Given the description of an element on the screen output the (x, y) to click on. 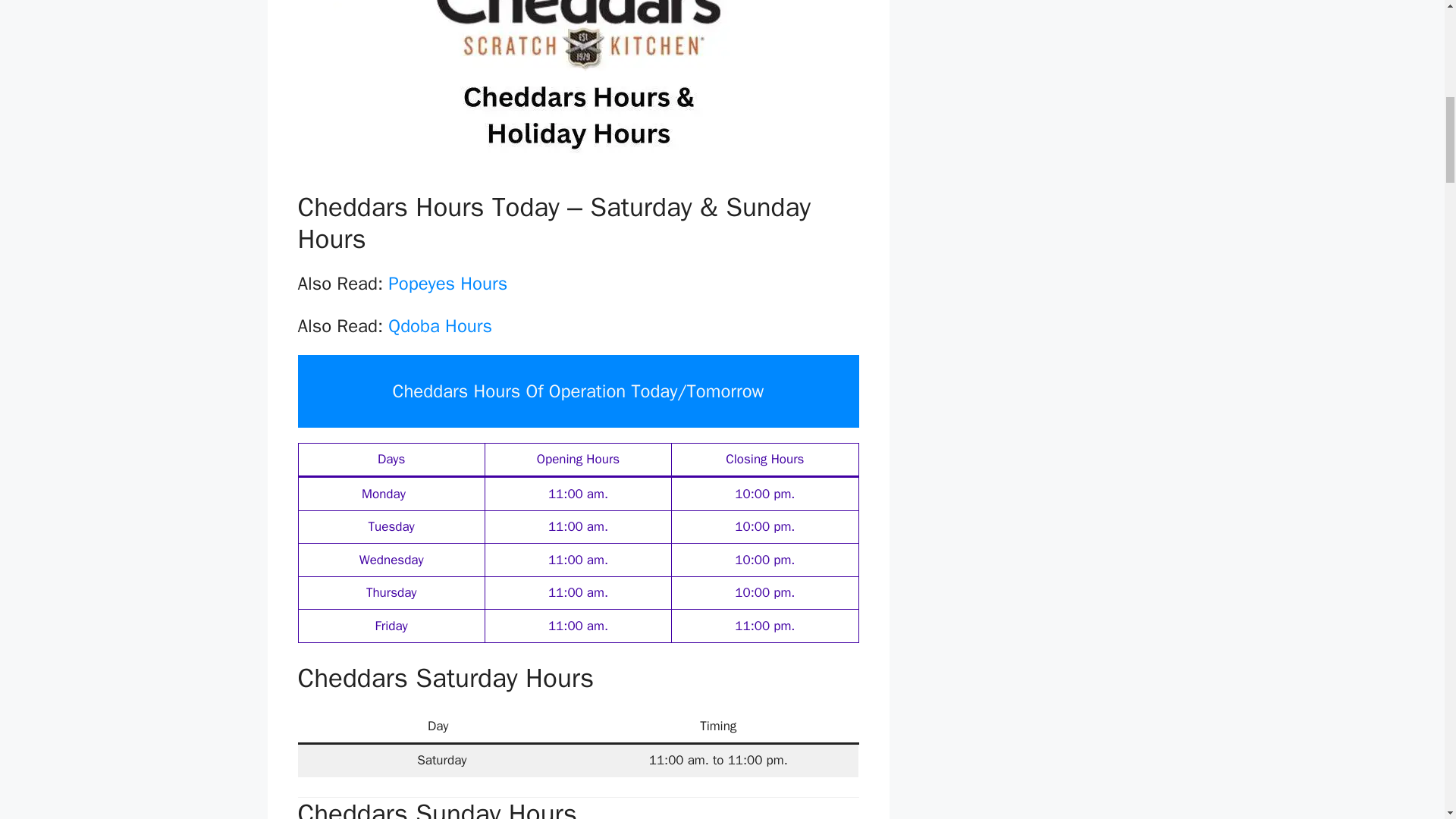
Popeyes Hours (447, 282)
Scroll back to top (1406, 720)
Qdoba Hours (440, 325)
